Given the description of an element on the screen output the (x, y) to click on. 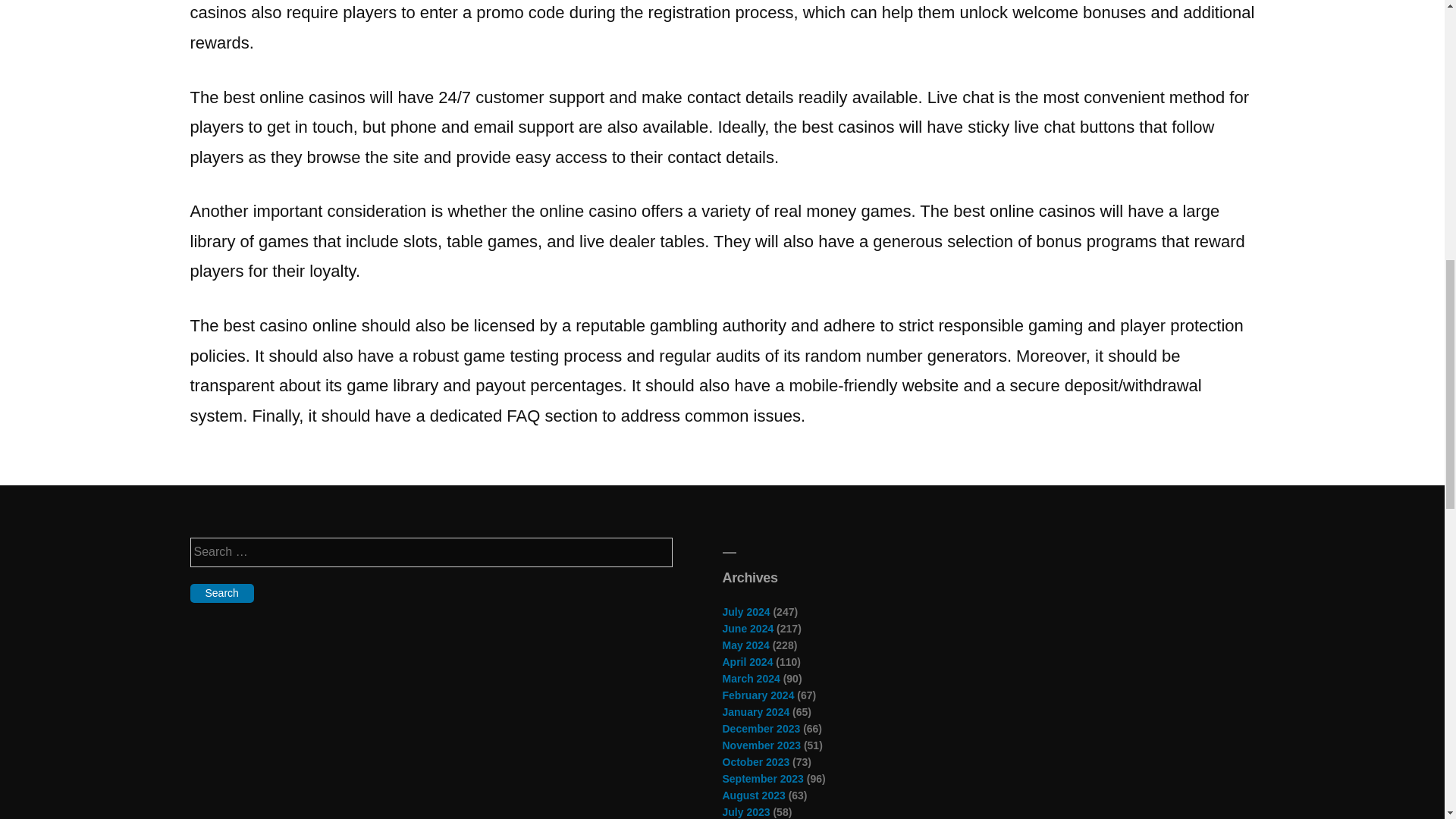
Search (221, 592)
November 2023 (761, 745)
March 2024 (750, 678)
July 2023 (746, 811)
July 2024 (746, 612)
April 2024 (747, 662)
May 2024 (745, 645)
September 2023 (762, 778)
October 2023 (755, 761)
December 2023 (760, 728)
August 2023 (753, 795)
Search (221, 592)
Search (221, 592)
January 2024 (755, 711)
February 2024 (757, 695)
